Given the description of an element on the screen output the (x, y) to click on. 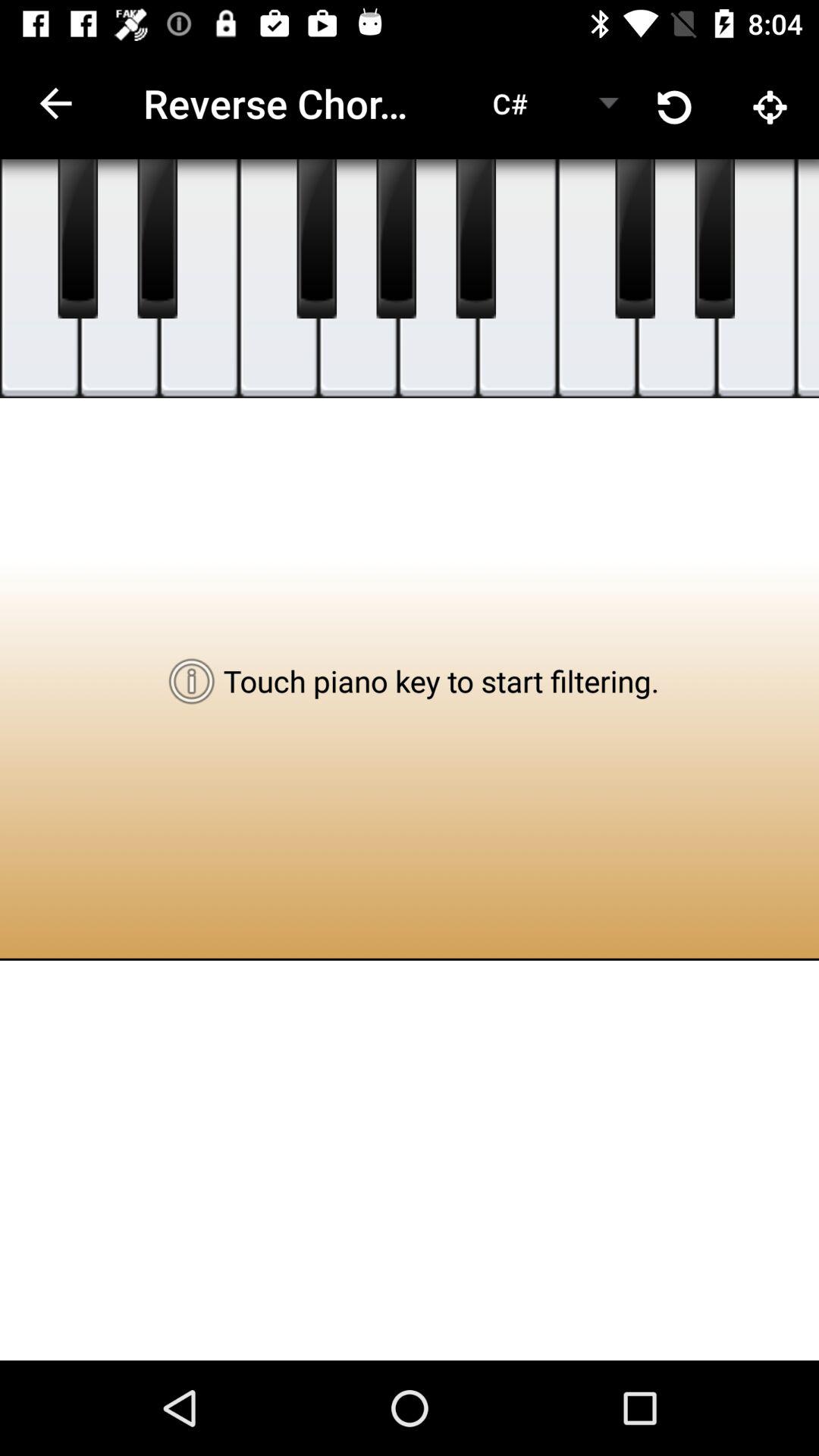
music key (597, 278)
